Given the description of an element on the screen output the (x, y) to click on. 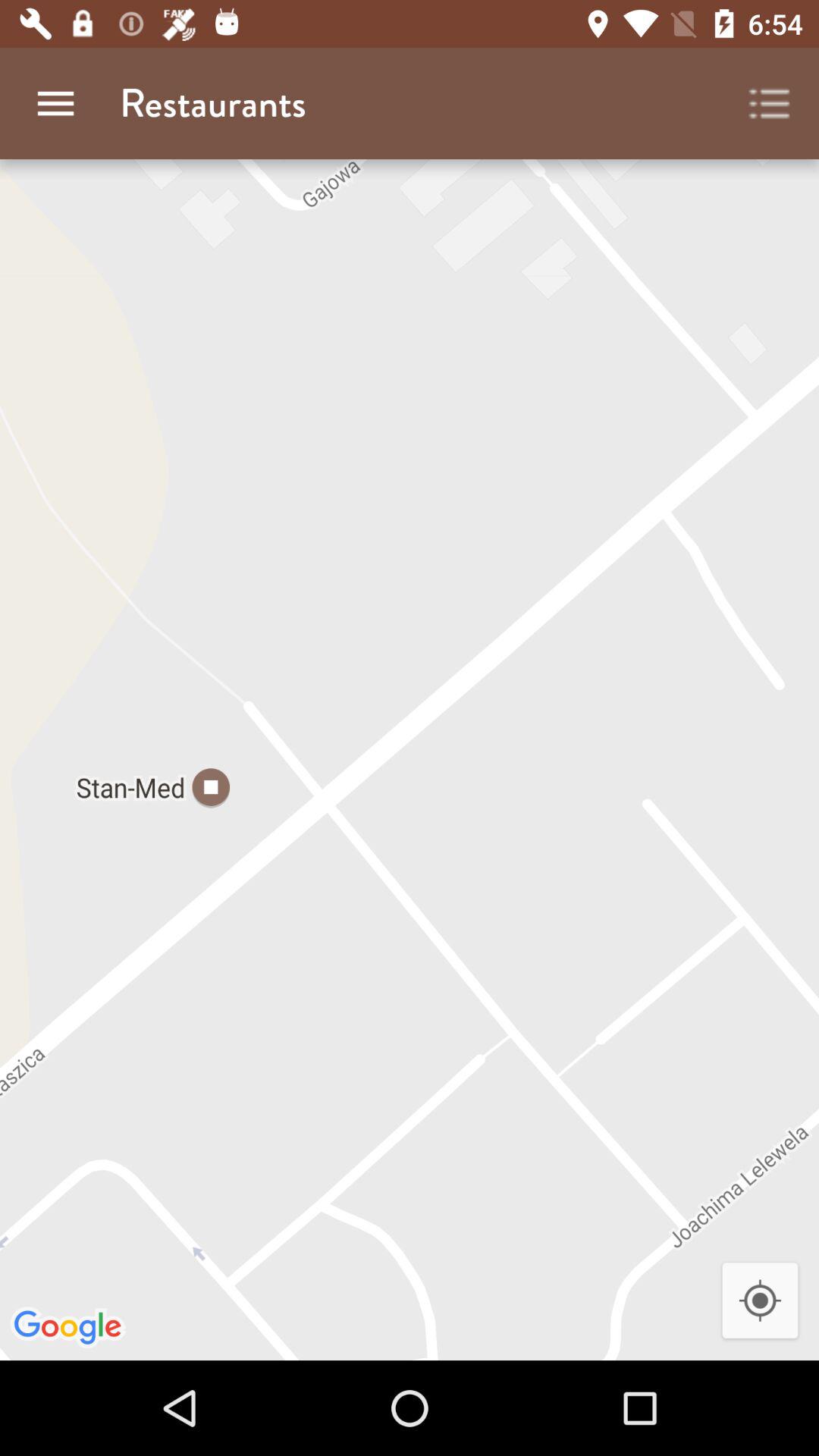
launch the app next to the restaurants icon (770, 103)
